Given the description of an element on the screen output the (x, y) to click on. 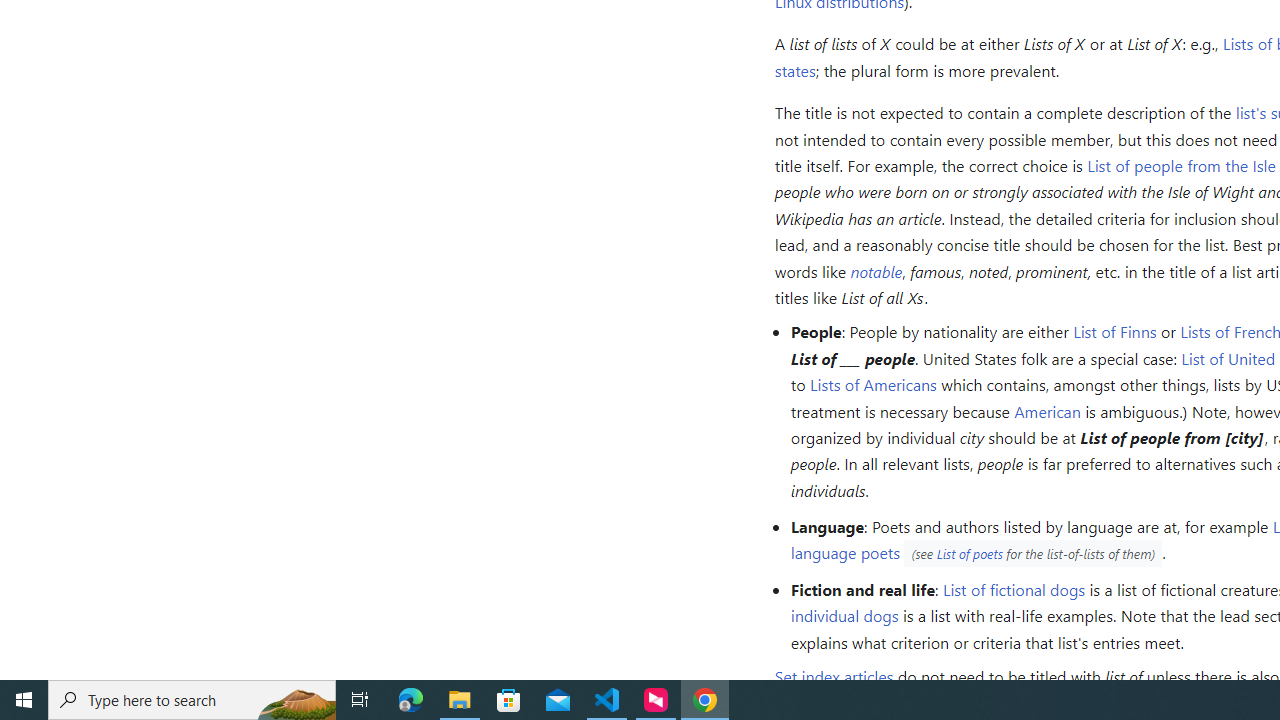
List of fictional dogs (1013, 588)
Lists of Americans (873, 384)
notable (875, 270)
American (1047, 410)
List of poets (969, 554)
List of Finns (1114, 331)
Set index articles (833, 677)
